Given the description of an element on the screen output the (x, y) to click on. 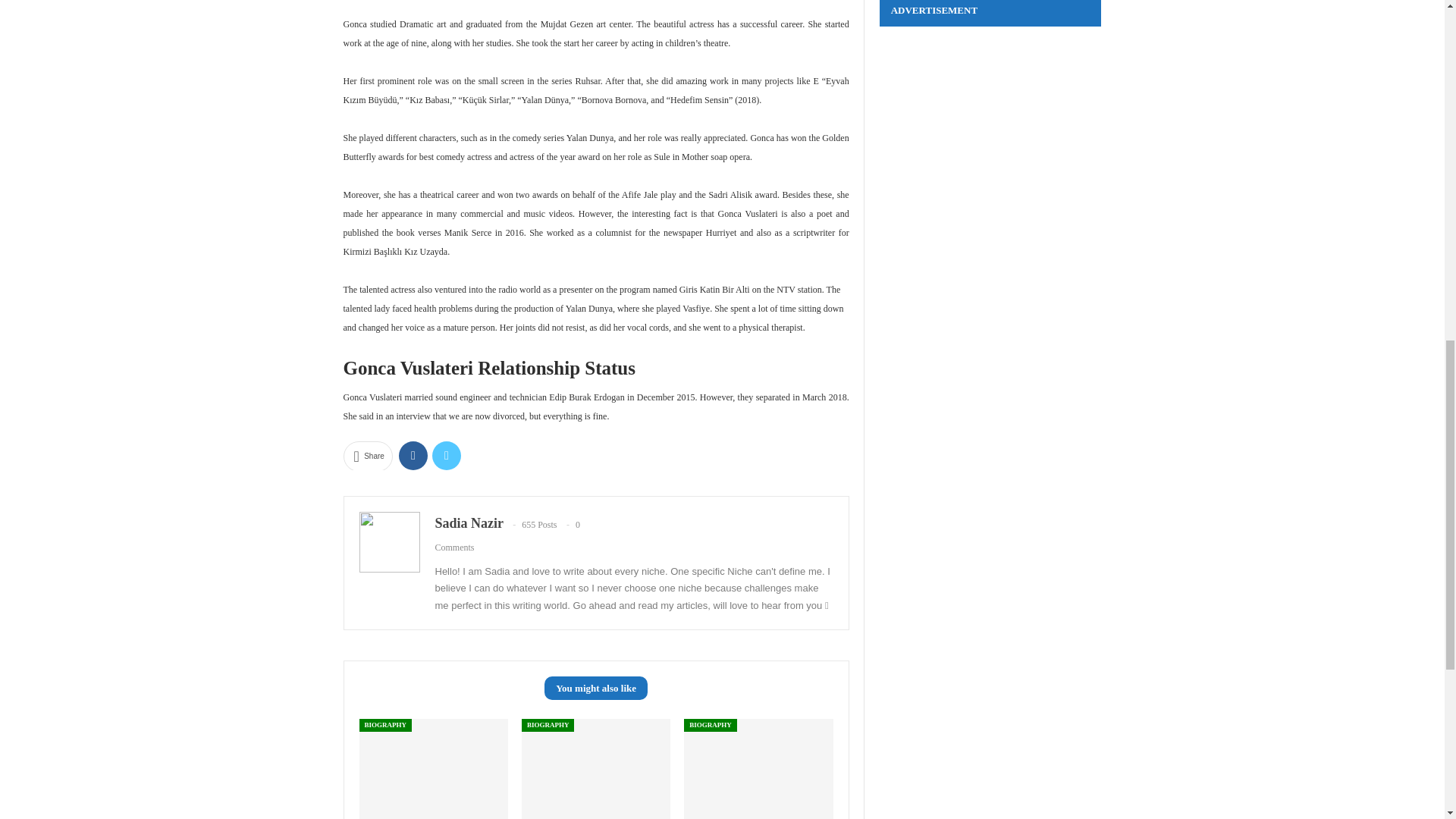
Facts About Agent 00 Net Worth, Career, Love Life and Others (595, 769)
Sadia Nazir (469, 522)
BIOGRAPHY (385, 725)
Niya Morant Age: Facts About The Younger Sister of Ja Morant (758, 769)
BIOGRAPHY (710, 725)
BIOGRAPHY (548, 725)
